Given the description of an element on the screen output the (x, y) to click on. 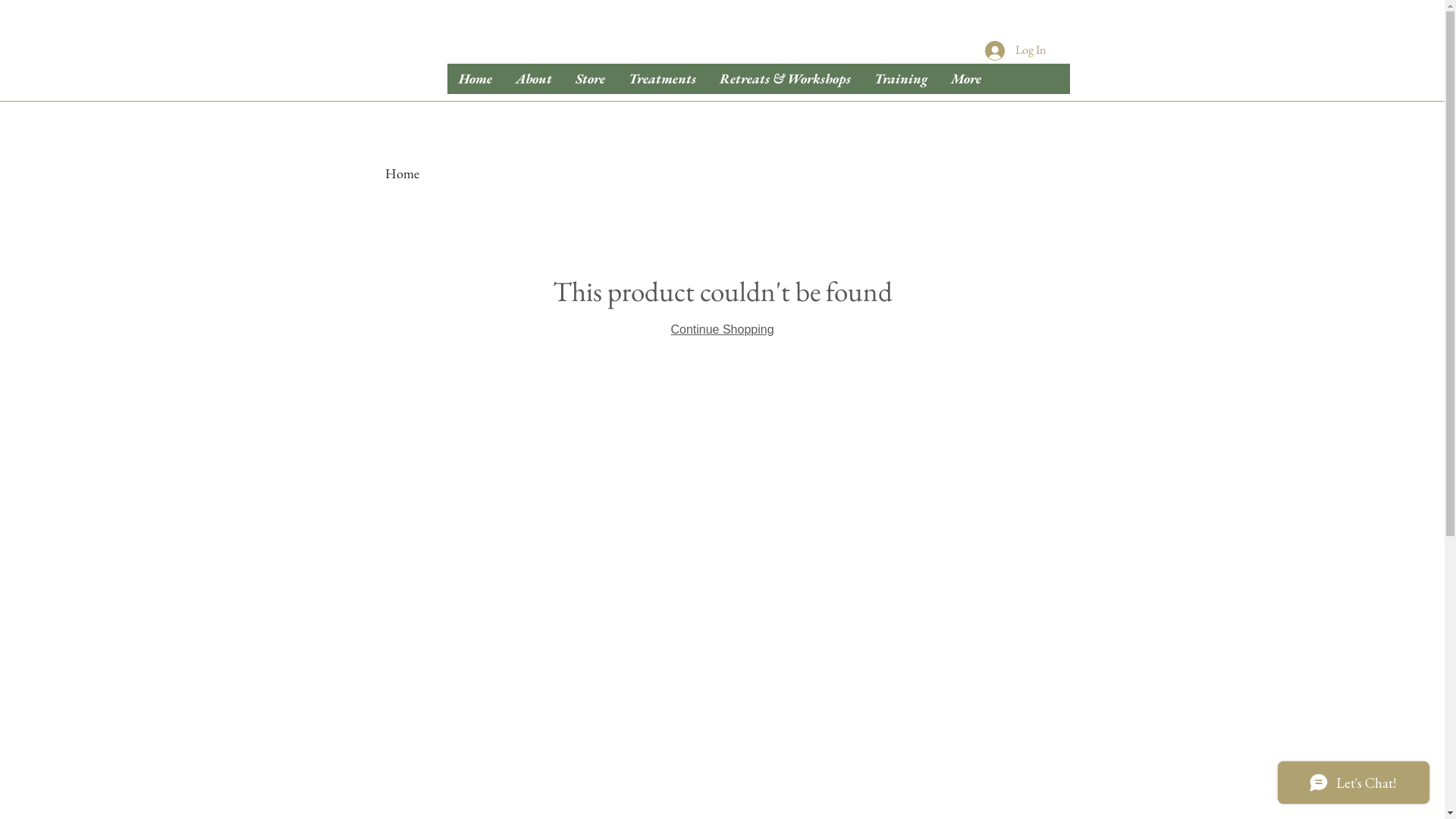
Retreats & Workshops Element type: text (783, 78)
Log In Element type: text (1014, 50)
Home Element type: text (402, 173)
Treatments Element type: text (660, 78)
Store Element type: text (588, 78)
Continue Shopping Element type: text (721, 329)
Training Element type: text (899, 78)
About Element type: text (533, 78)
Home Element type: text (475, 78)
